Given the description of an element on the screen output the (x, y) to click on. 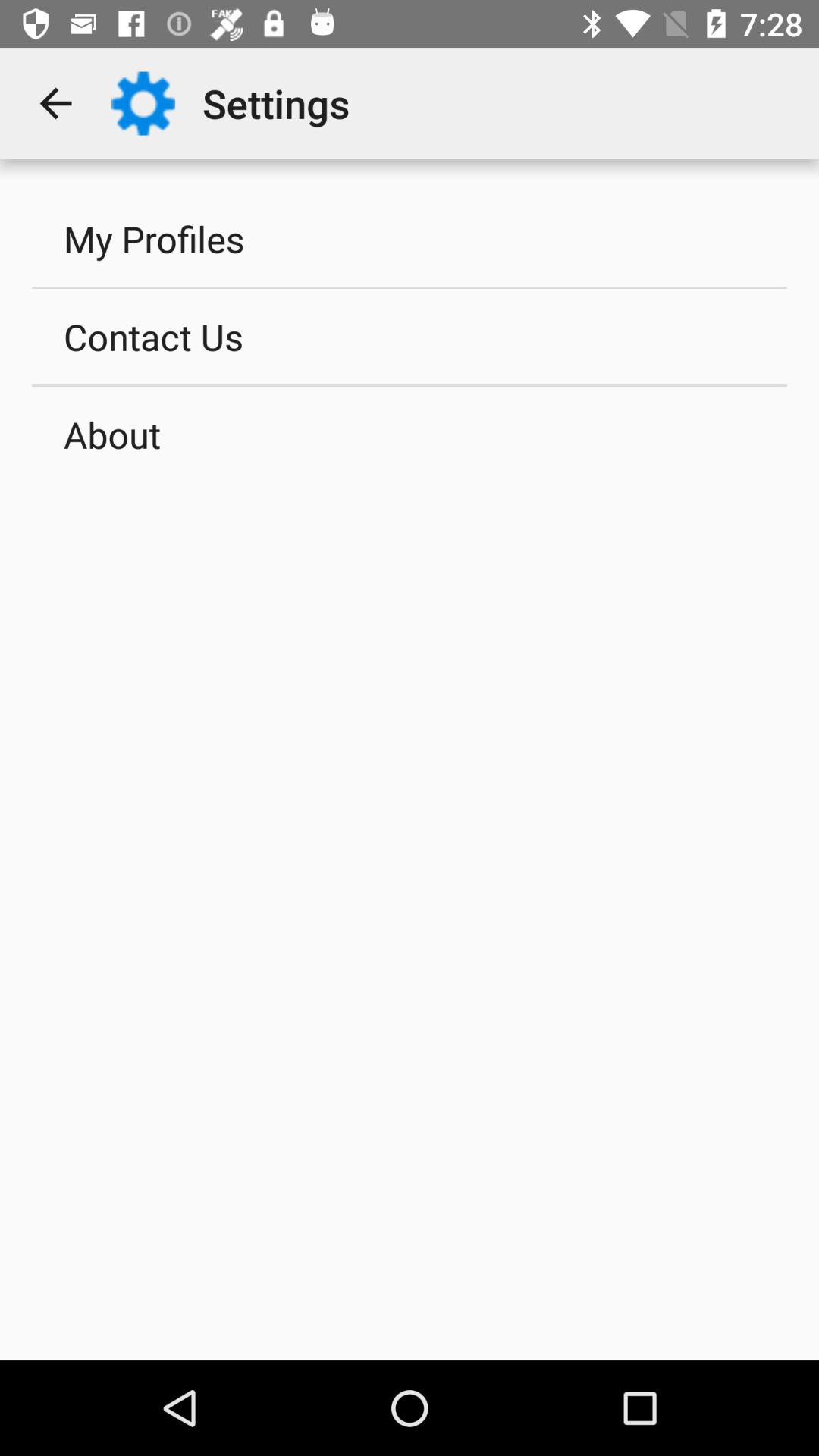
choose icon above my profiles icon (55, 103)
